Given the description of an element on the screen output the (x, y) to click on. 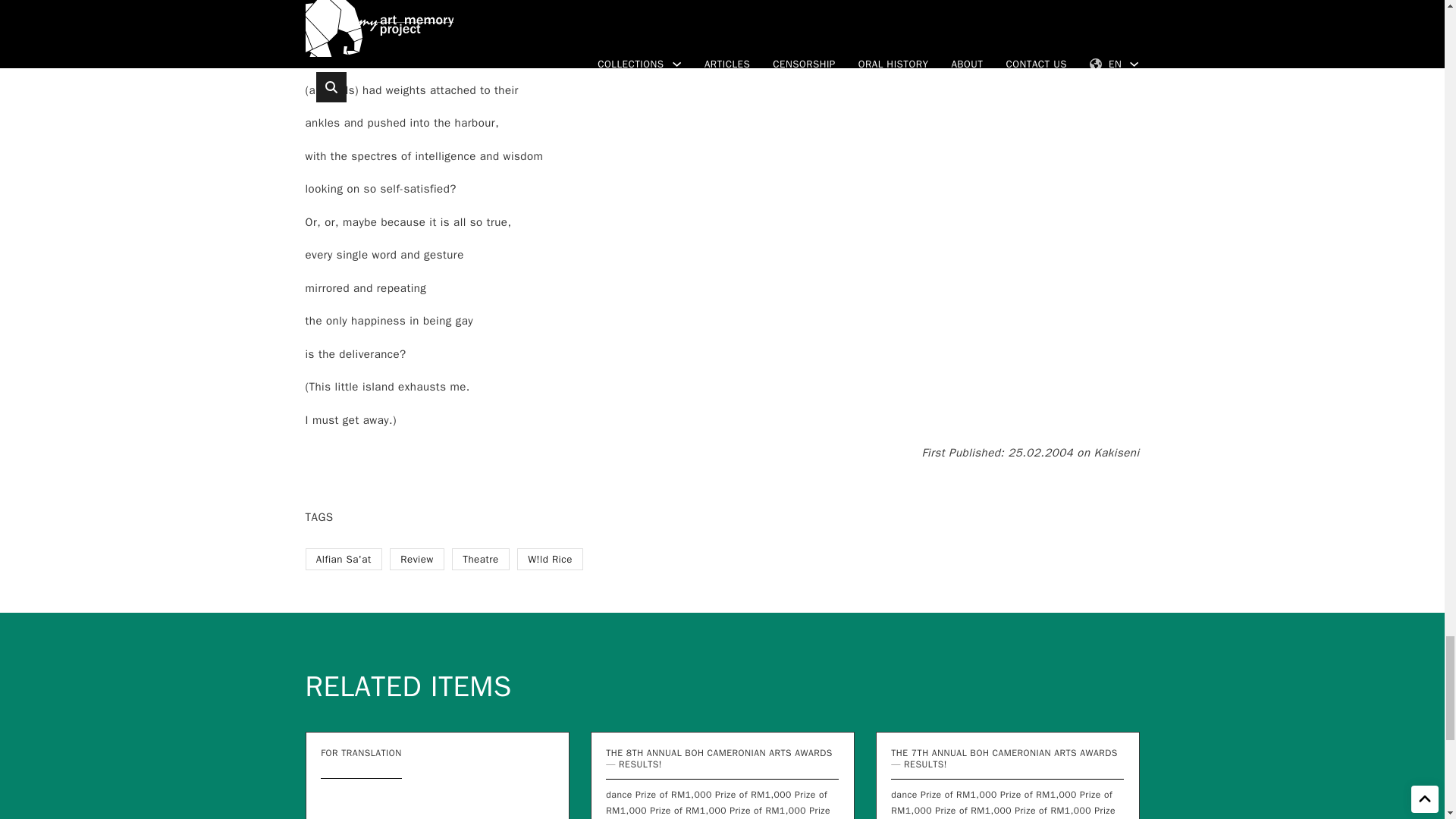
W!ld Rice (549, 558)
Review (417, 558)
FOR TRANSLATION (360, 752)
Alfian Sa'at (342, 558)
Theatre (480, 558)
